Given the description of an element on the screen output the (x, y) to click on. 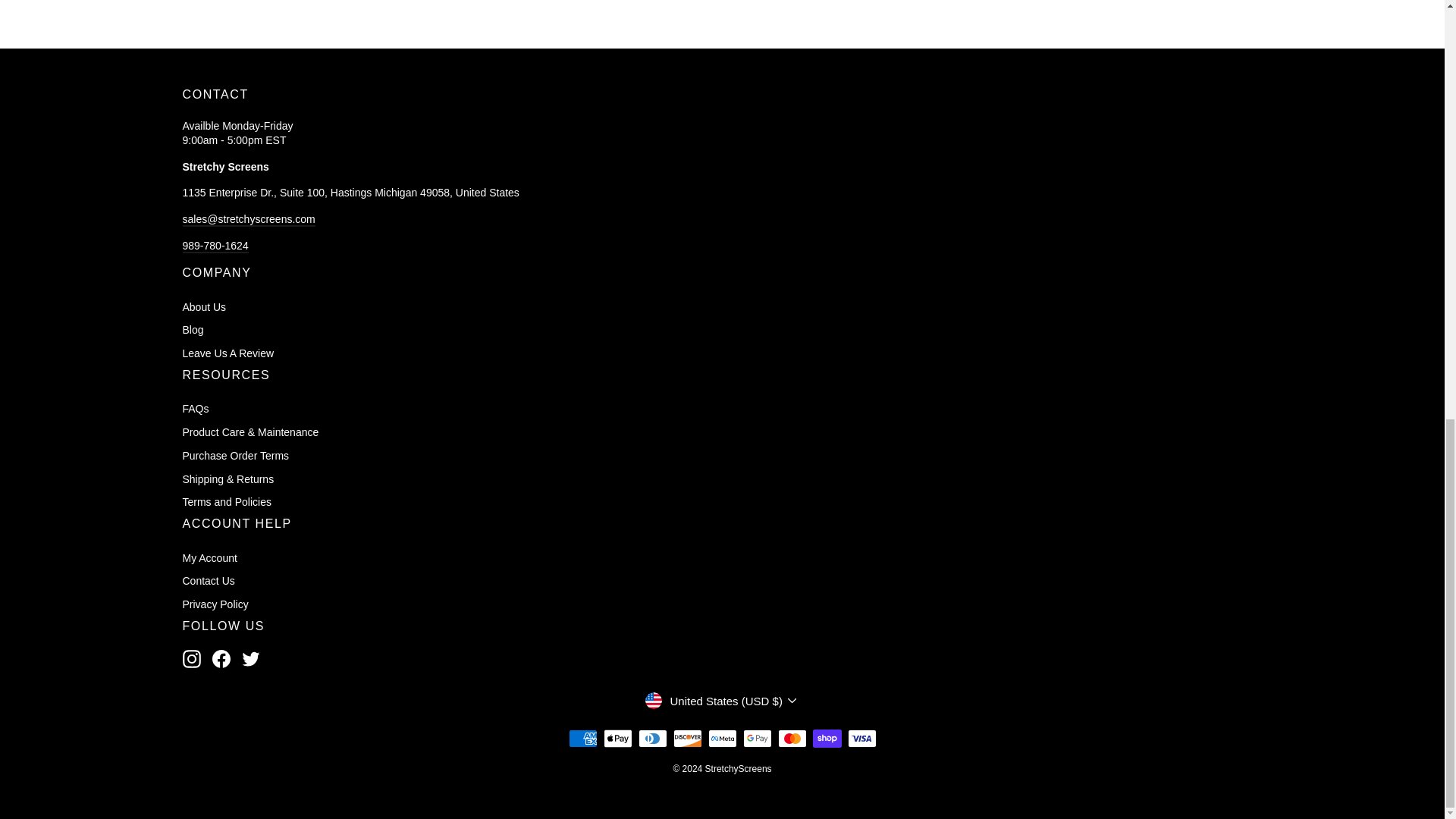
American Express (582, 738)
Mastercard (791, 738)
Shop Pay (826, 738)
StretchyScreens on Twitter (250, 659)
Visa (861, 738)
tel:989-780-1624 (214, 246)
Apple Pay (617, 738)
Diners Club (652, 738)
Discover (686, 738)
StretchyScreens on Facebook (221, 659)
